Given the description of an element on the screen output the (x, y) to click on. 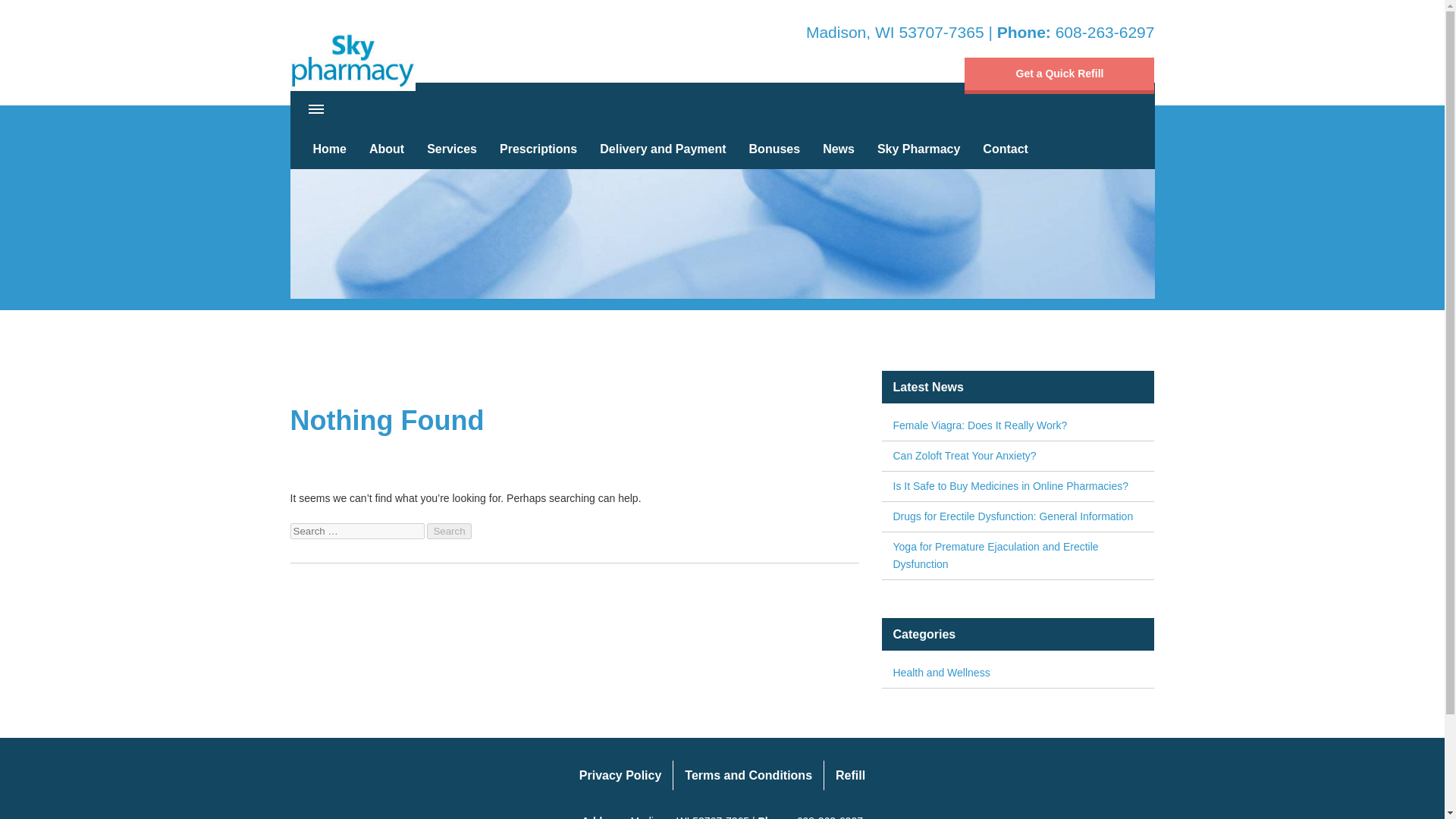
Bonuses (775, 148)
Contact (1005, 148)
Get a Quick Refill (1058, 75)
Sky Pharmacy (351, 56)
Prescriptions (537, 148)
Home (329, 148)
Delivery and Payment (662, 148)
About (386, 148)
Health and Wellness (1017, 672)
Refill (850, 774)
